Given the description of an element on the screen output the (x, y) to click on. 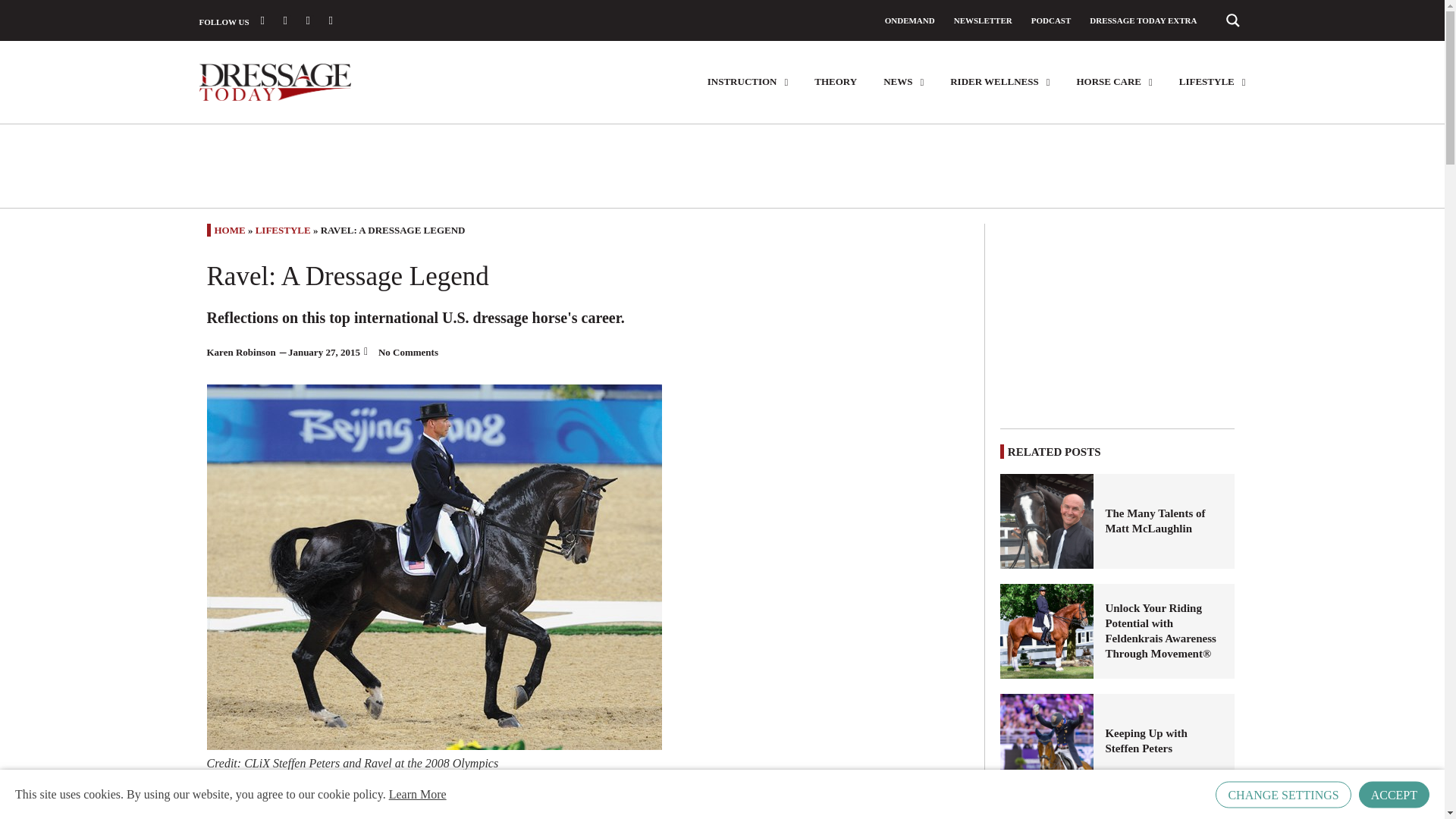
THEORY (835, 81)
NEWSLETTER (982, 20)
Keeping Up with Steffen Peters (1164, 740)
3rd party ad content (1117, 318)
3rd party ad content (721, 165)
INSTRUCTION (748, 81)
NEWS (903, 81)
The Many Talents of Matt McLaughlin (1047, 521)
Breeding for Form and Function (1047, 811)
DRESSAGE TODAY EXTRA (1142, 20)
LIFESTYLE (1212, 81)
Keeping Up with Steffen Peters (1047, 740)
The Many Talents of Matt McLaughlin (1164, 521)
RIDER WELLNESS (999, 81)
ONDEMAND (909, 20)
